Given the description of an element on the screen output the (x, y) to click on. 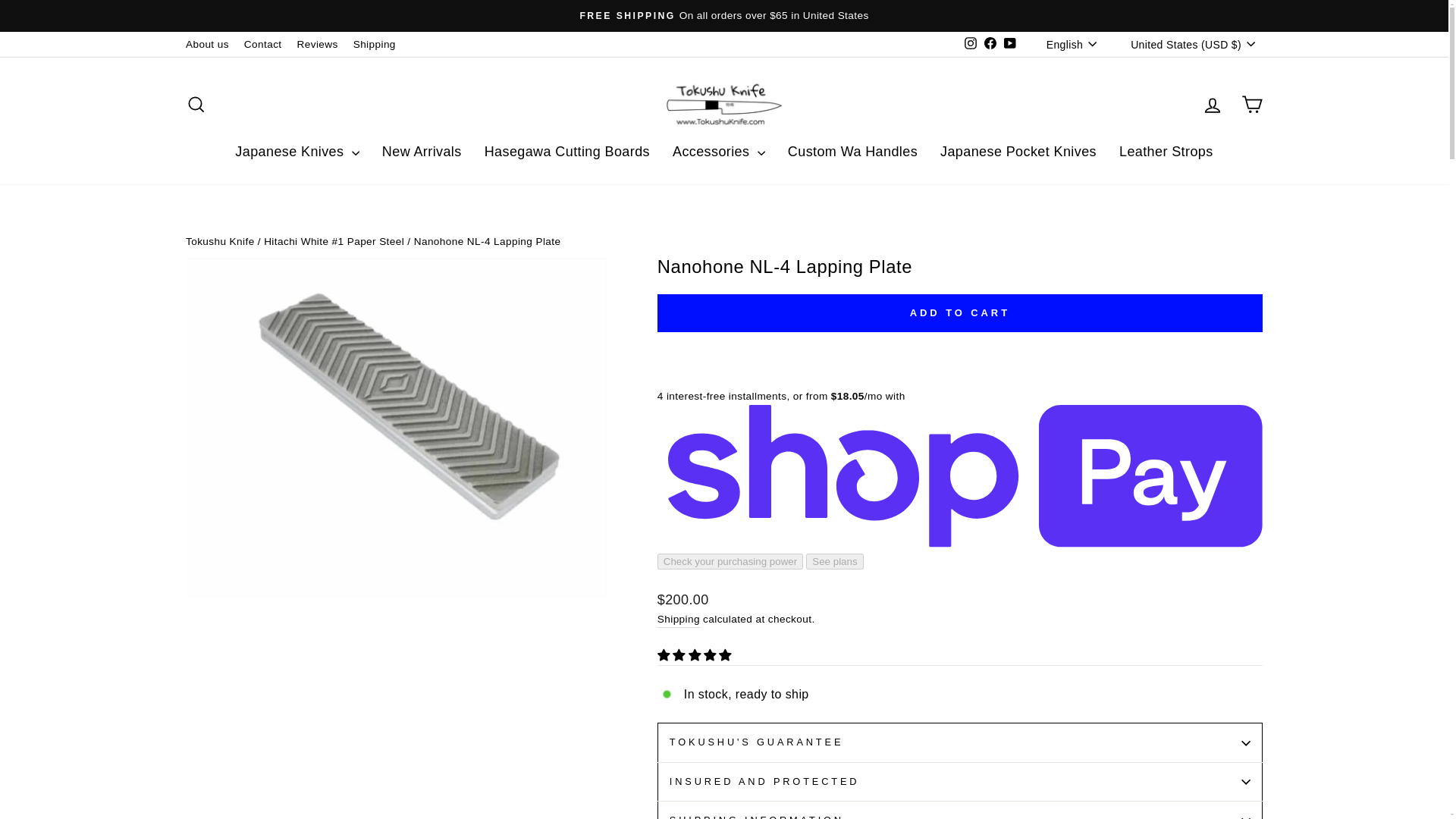
icon-search (196, 104)
Back to the frontpage (220, 241)
account (1212, 105)
instagram (969, 42)
